Given the description of an element on the screen output the (x, y) to click on. 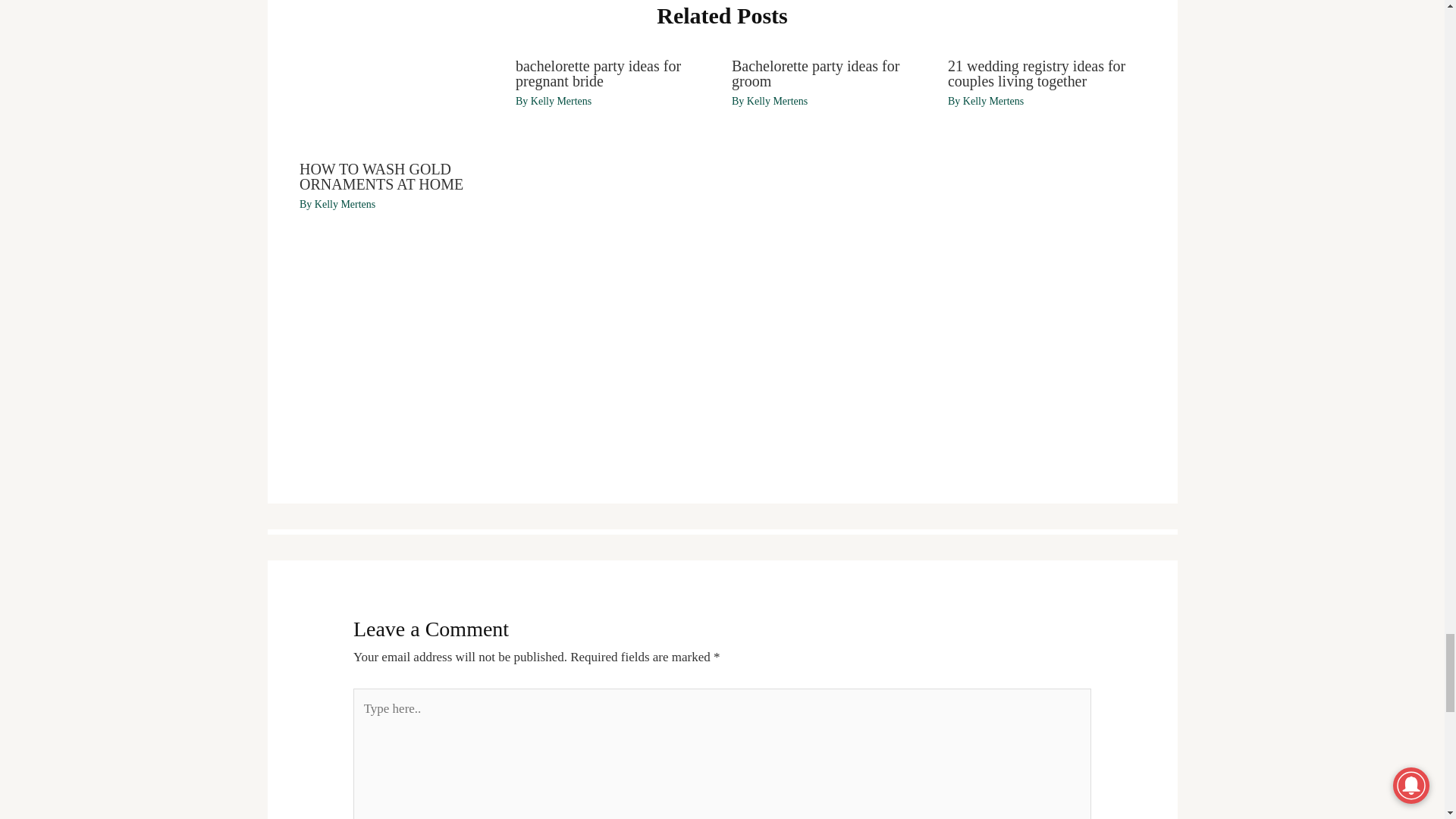
View all posts by Kelly Mertens (561, 101)
Kelly Mertens (344, 204)
Kelly Mertens (561, 101)
View all posts by Kelly Mertens (992, 101)
HOW TO WASH GOLD ORNAMENTS AT HOME (381, 176)
Kelly Mertens (992, 101)
bachelorette party ideas for pregnant bride (598, 73)
21 wedding registry ideas for couples living together (1036, 73)
Bachelorette party ideas for groom (815, 73)
View all posts by Kelly Mertens (777, 101)
